Given the description of an element on the screen output the (x, y) to click on. 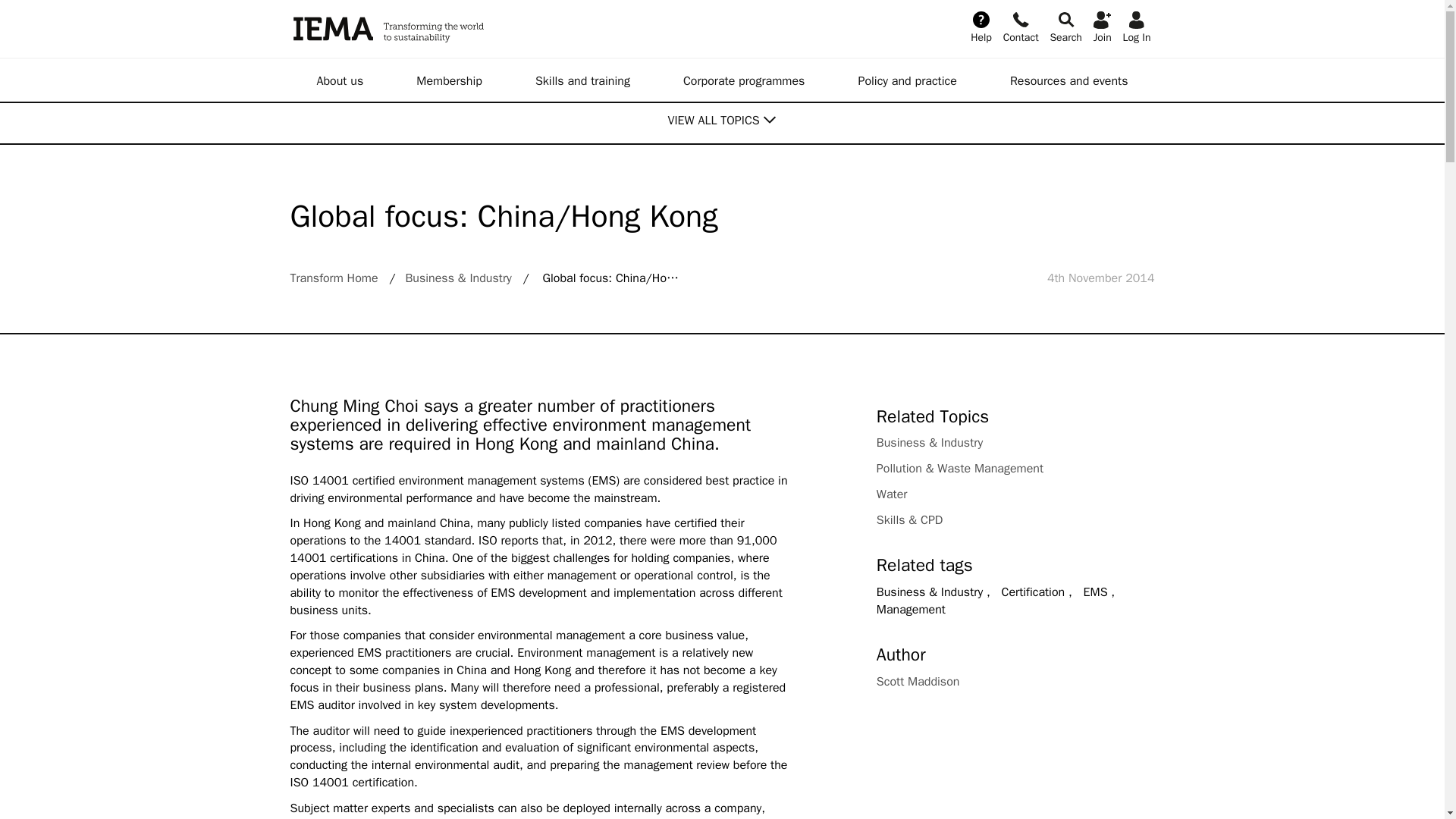
Membership (449, 79)
Contact (1021, 26)
IEMA (464, 28)
About us (339, 79)
